Given the description of an element on the screen output the (x, y) to click on. 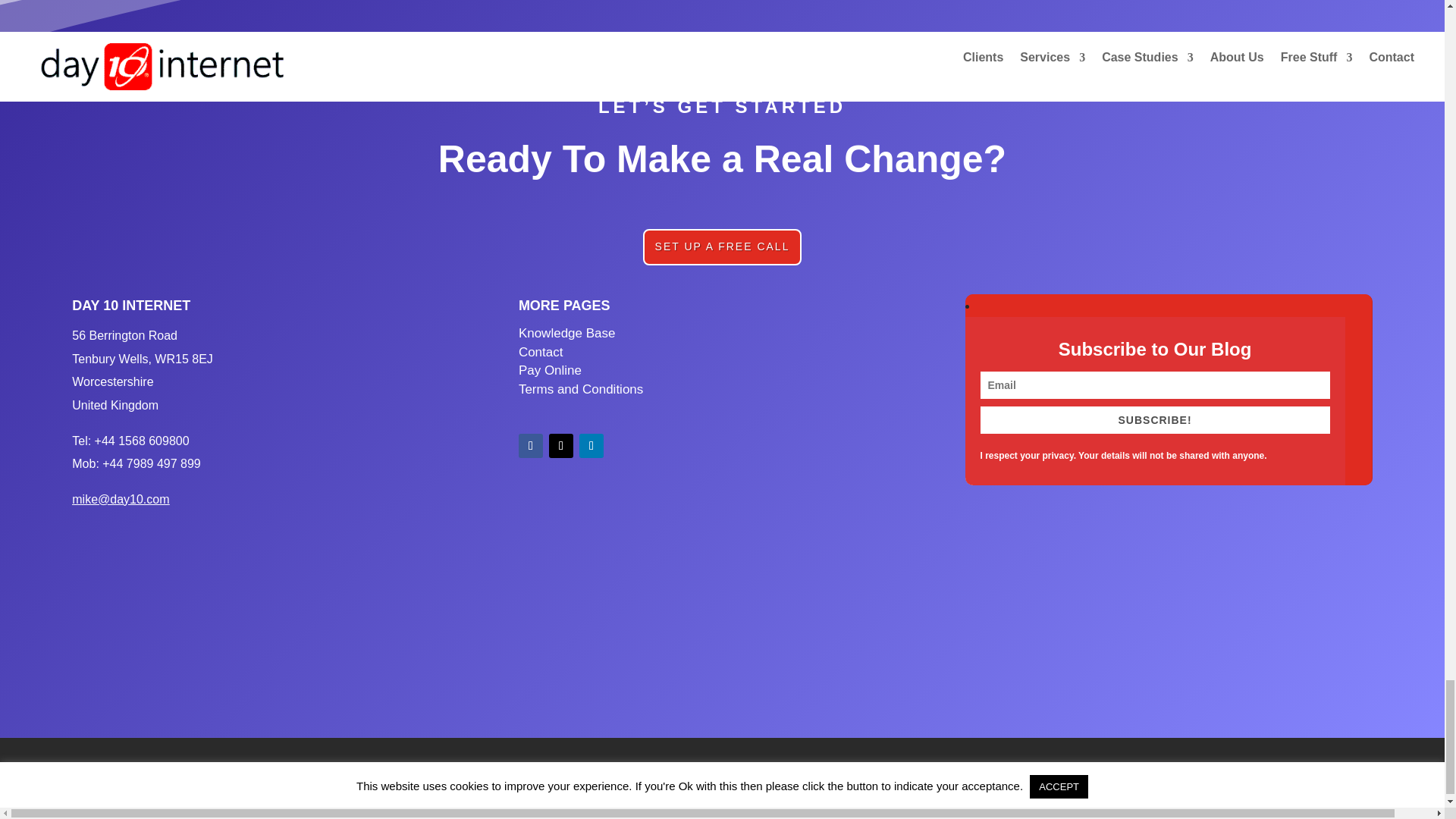
Follow on LinkedIn (591, 445)
Follow on X (560, 445)
Follow on Facebook (530, 445)
